Given the description of an element on the screen output the (x, y) to click on. 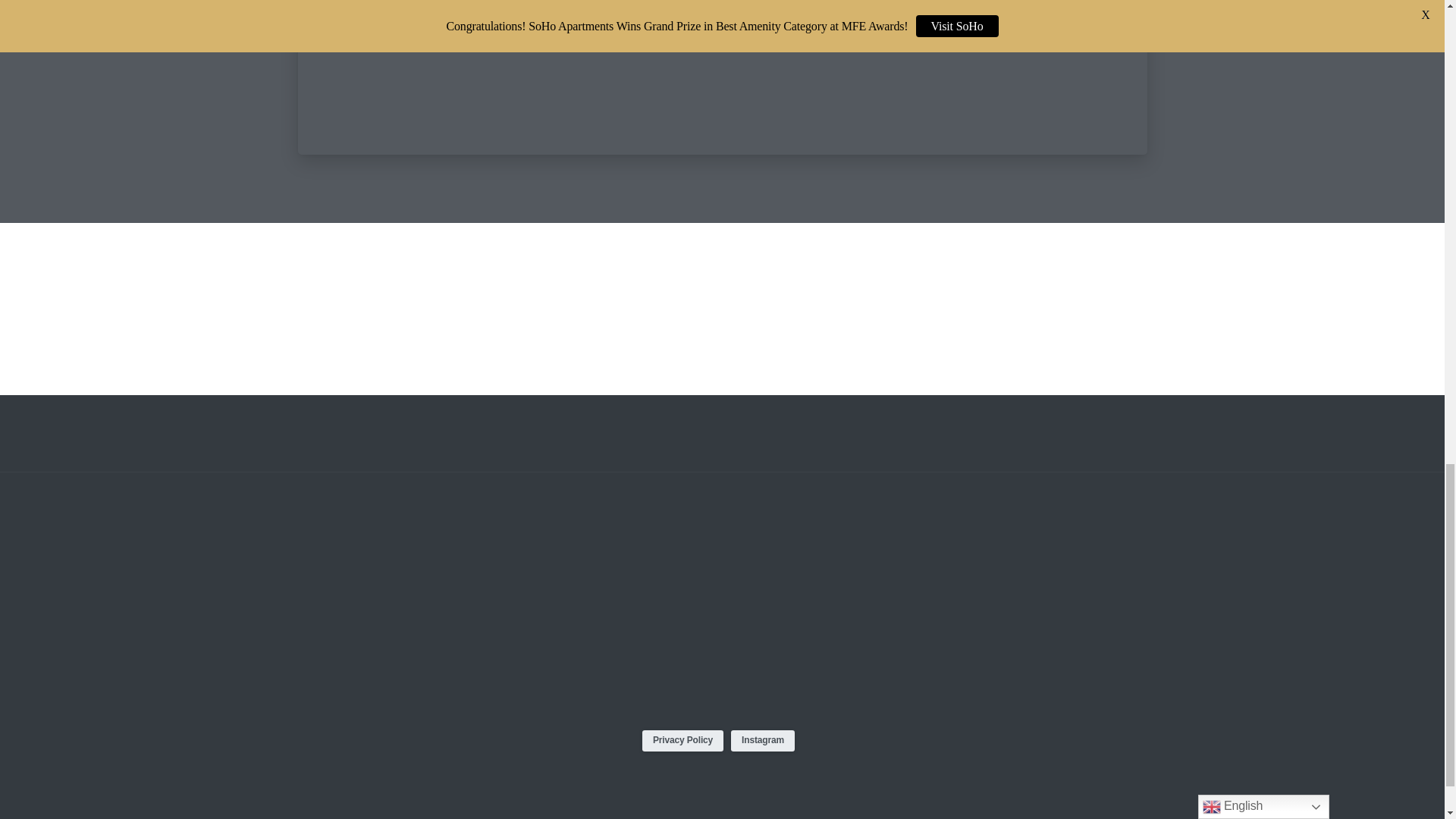
Instagram (762, 740)
Privacy Policy (682, 740)
